Given the description of an element on the screen output the (x, y) to click on. 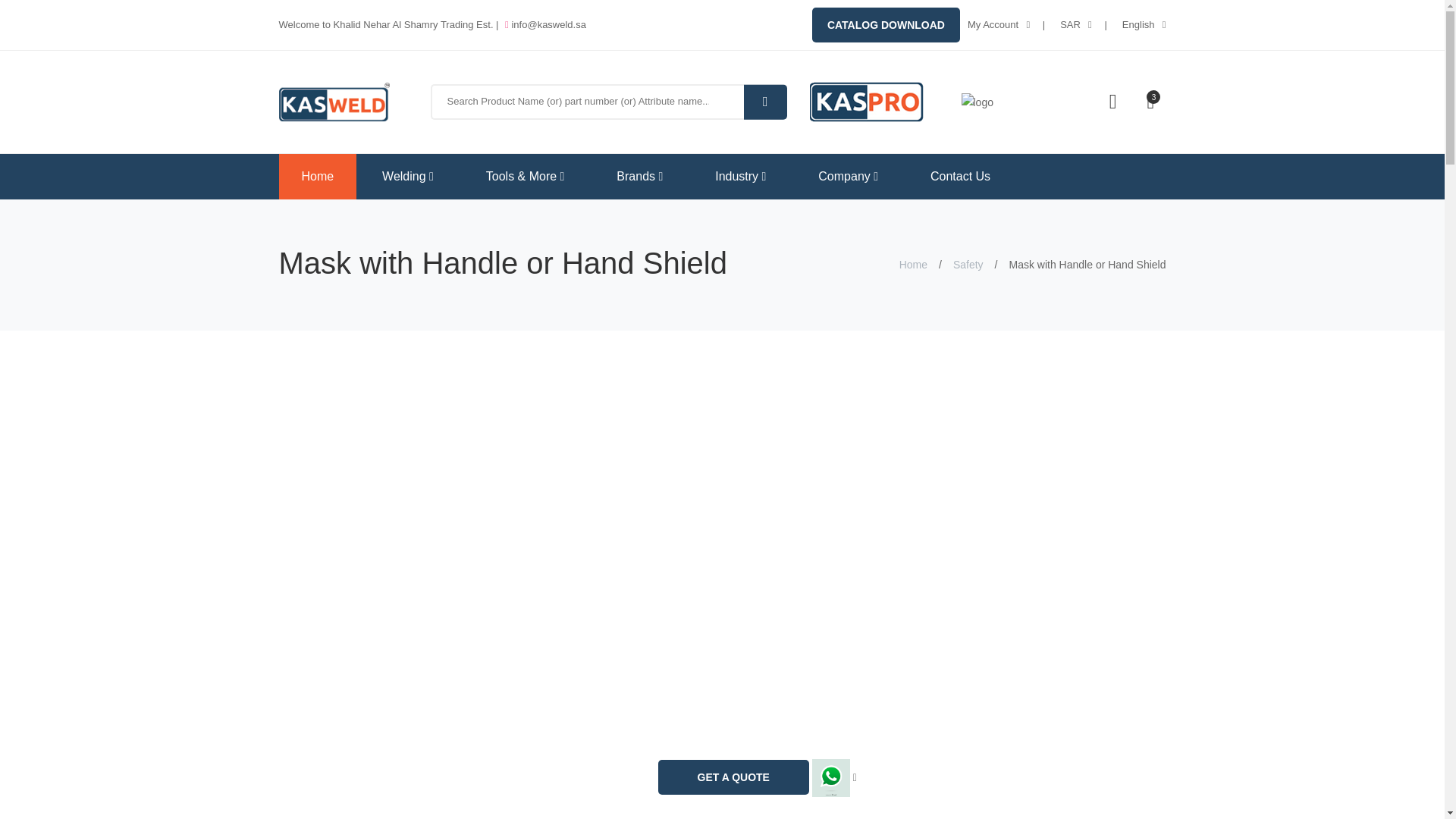
3 (1150, 101)
English (1138, 24)
Welding (408, 176)
SAR (1069, 24)
CATALOG DOWNLOAD (885, 24)
Home (317, 176)
My Account (992, 24)
